Given the description of an element on the screen output the (x, y) to click on. 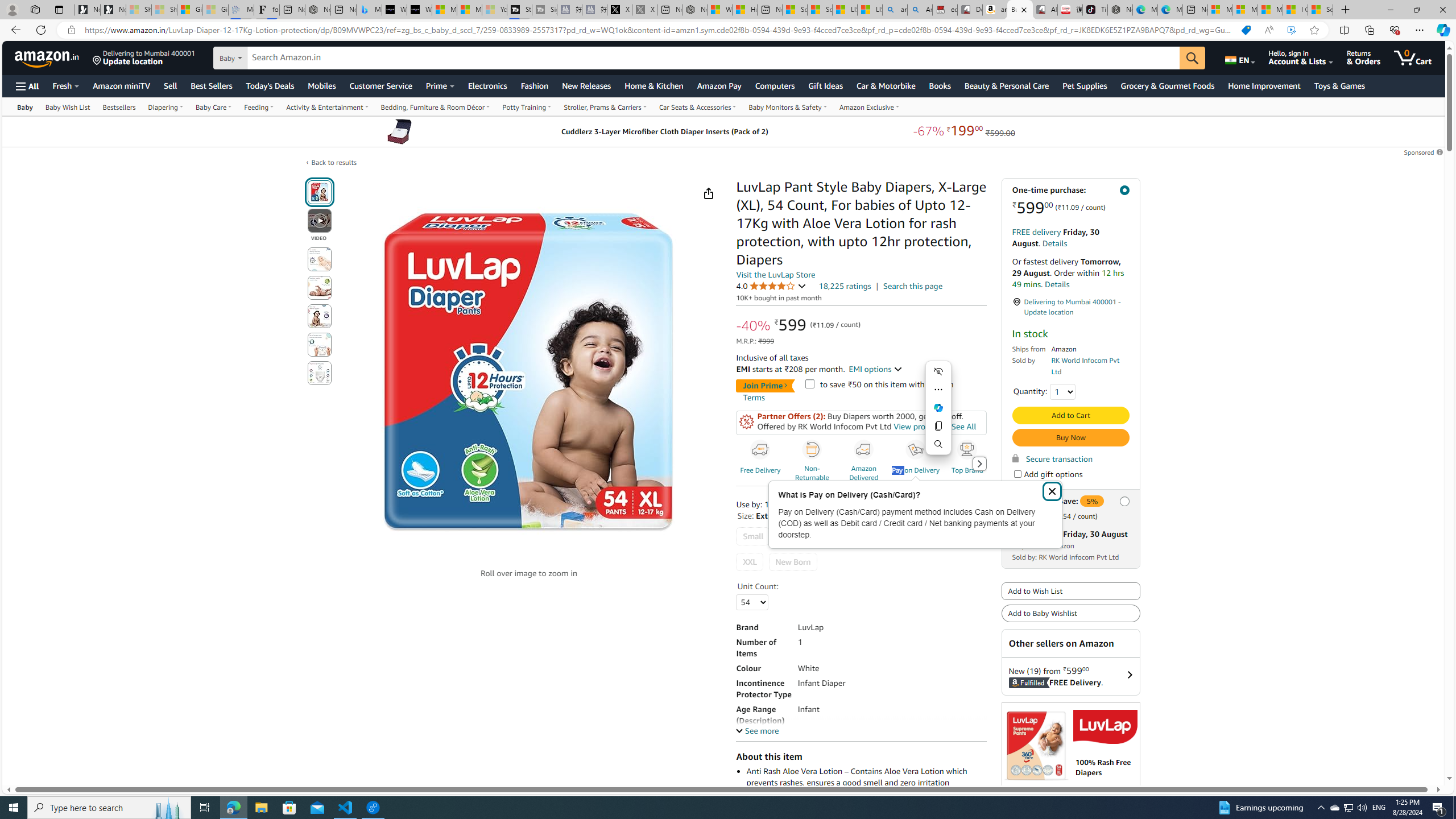
More actions (938, 389)
amazon.in/dp/B0CX59H5W7/?tag=gsmcom05-21 (993, 9)
I Gained 20 Pounds of Muscle in 30 Days! | Watch (1295, 9)
What's the best AI voice generator? - voice.ai (418, 9)
Newsletter Sign Up (113, 9)
Amazon Echo Dot PNG - Search Images (919, 9)
Nordace - My Account (694, 9)
Microsoft account | Privacy (1244, 9)
